Given the description of an element on the screen output the (x, y) to click on. 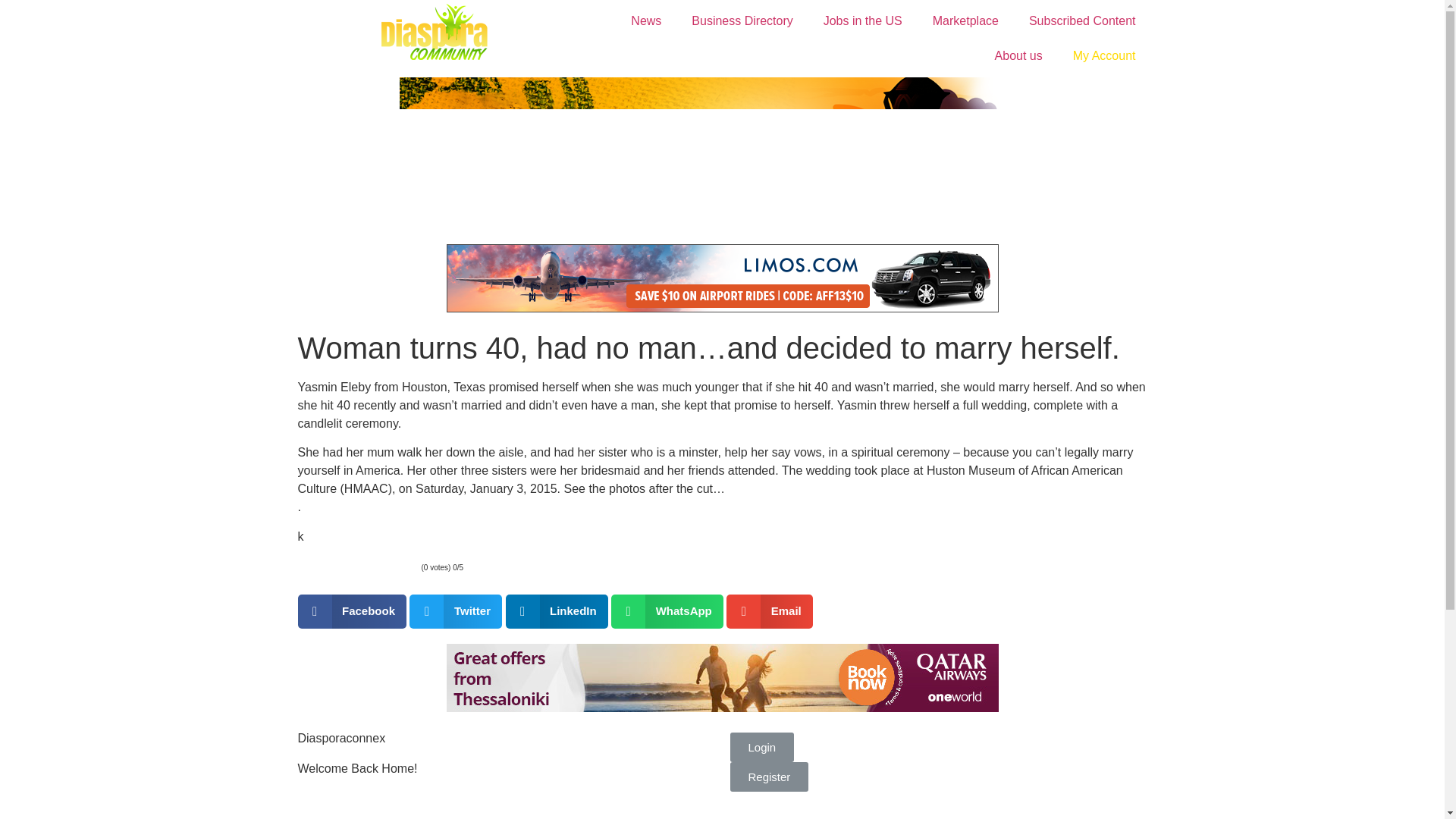
About us (1018, 55)
Subscribed Content (1082, 21)
Business Directory (742, 21)
Marketplace (965, 21)
Jobs in the US (862, 21)
My Account (1104, 55)
News (646, 21)
